Given the description of an element on the screen output the (x, y) to click on. 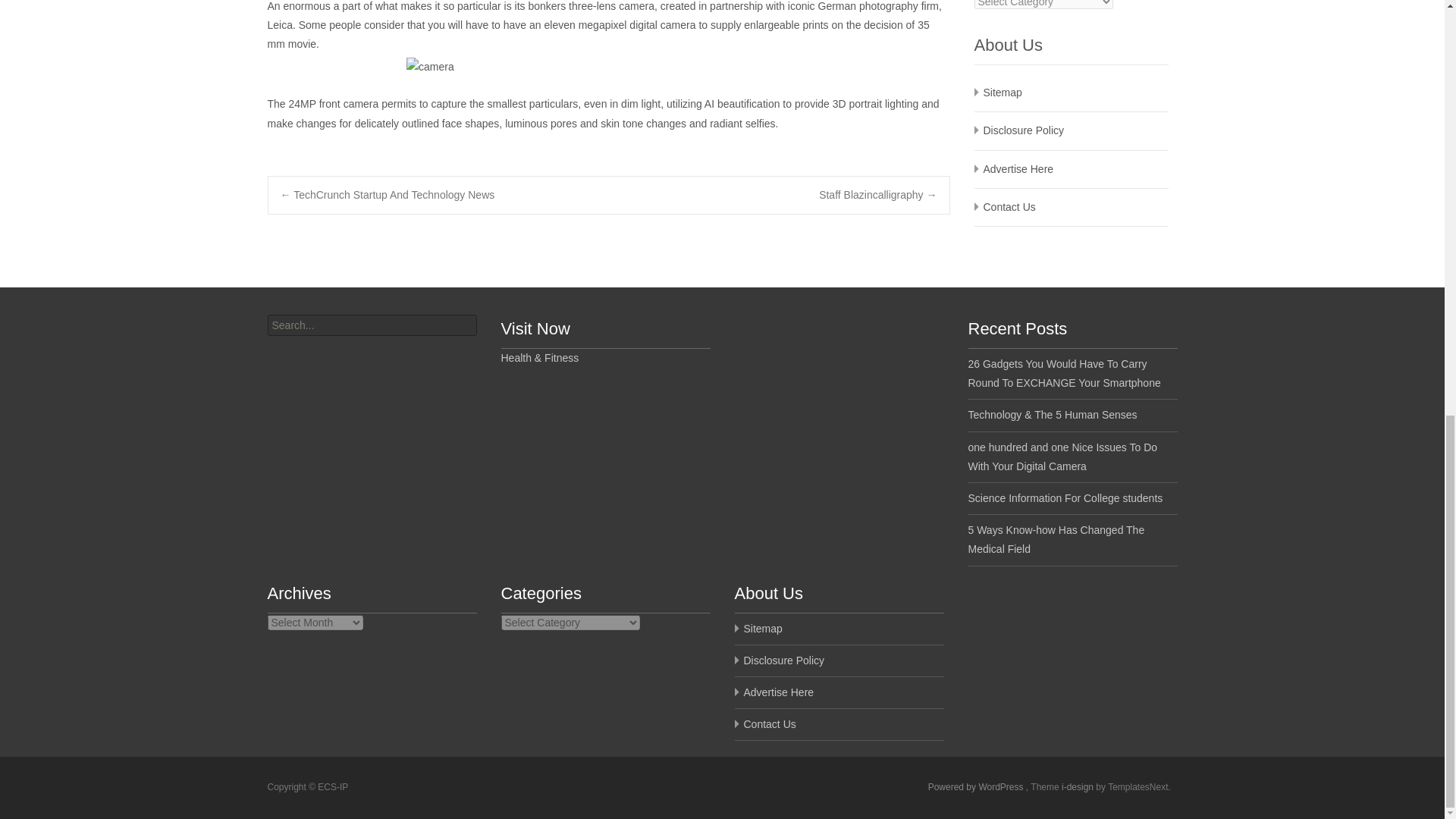
Search for: (371, 324)
Semantic Personal Publishing Platform (977, 787)
Multipurpose WordPress Theme (1078, 787)
